Given the description of an element on the screen output the (x, y) to click on. 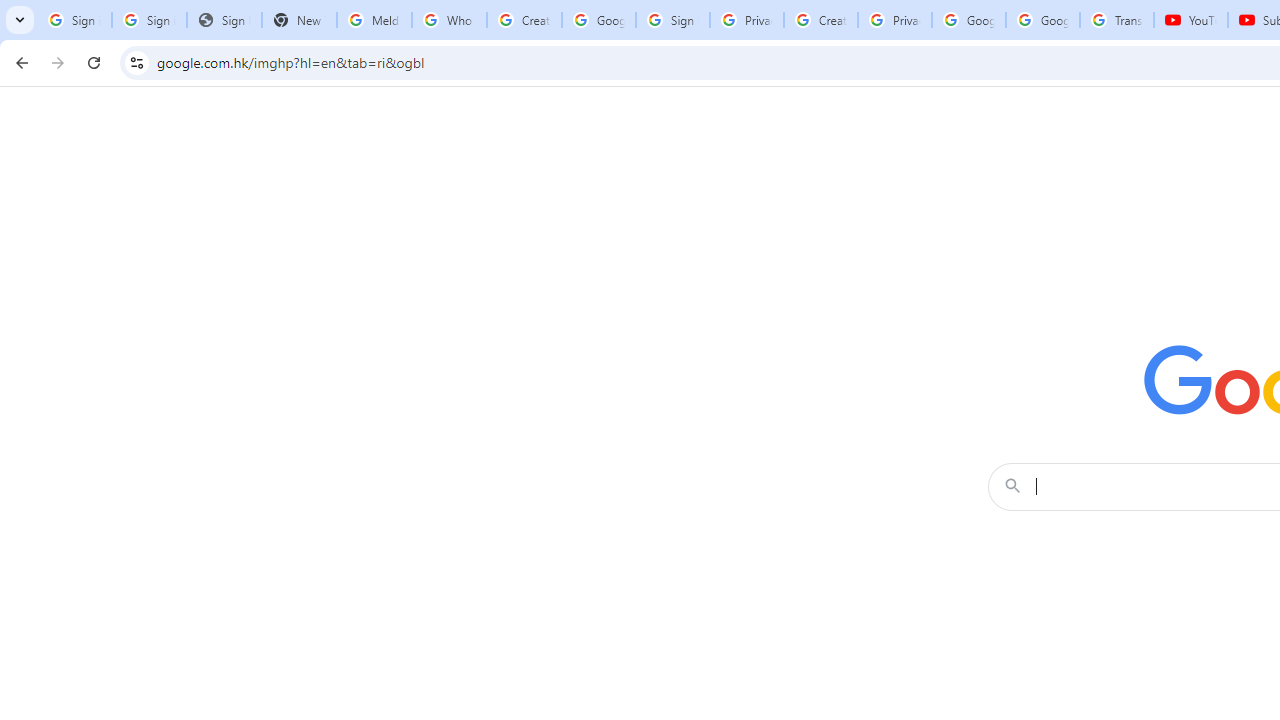
Sign in - Google Accounts (148, 20)
YouTube (1190, 20)
Who is my administrator? - Google Account Help (449, 20)
New Tab (299, 20)
Create your Google Account (523, 20)
